Given the description of an element on the screen output the (x, y) to click on. 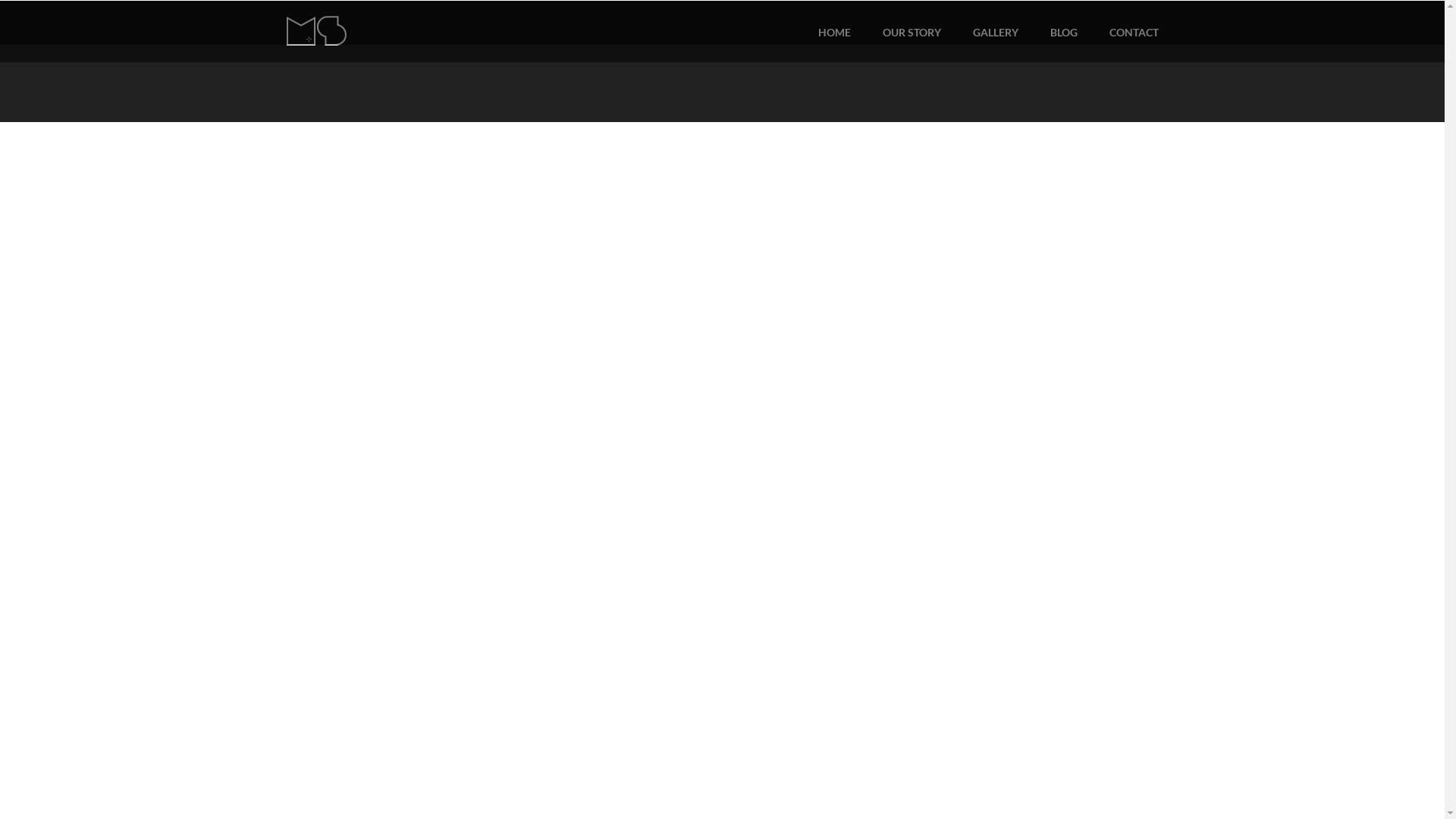
HOME Element type: text (833, 31)
OUR STORY Element type: text (911, 31)
GALLERY Element type: text (994, 31)
CONTACT Element type: text (1132, 31)
BLOG Element type: text (1062, 31)
